Given the description of an element on the screen output the (x, y) to click on. 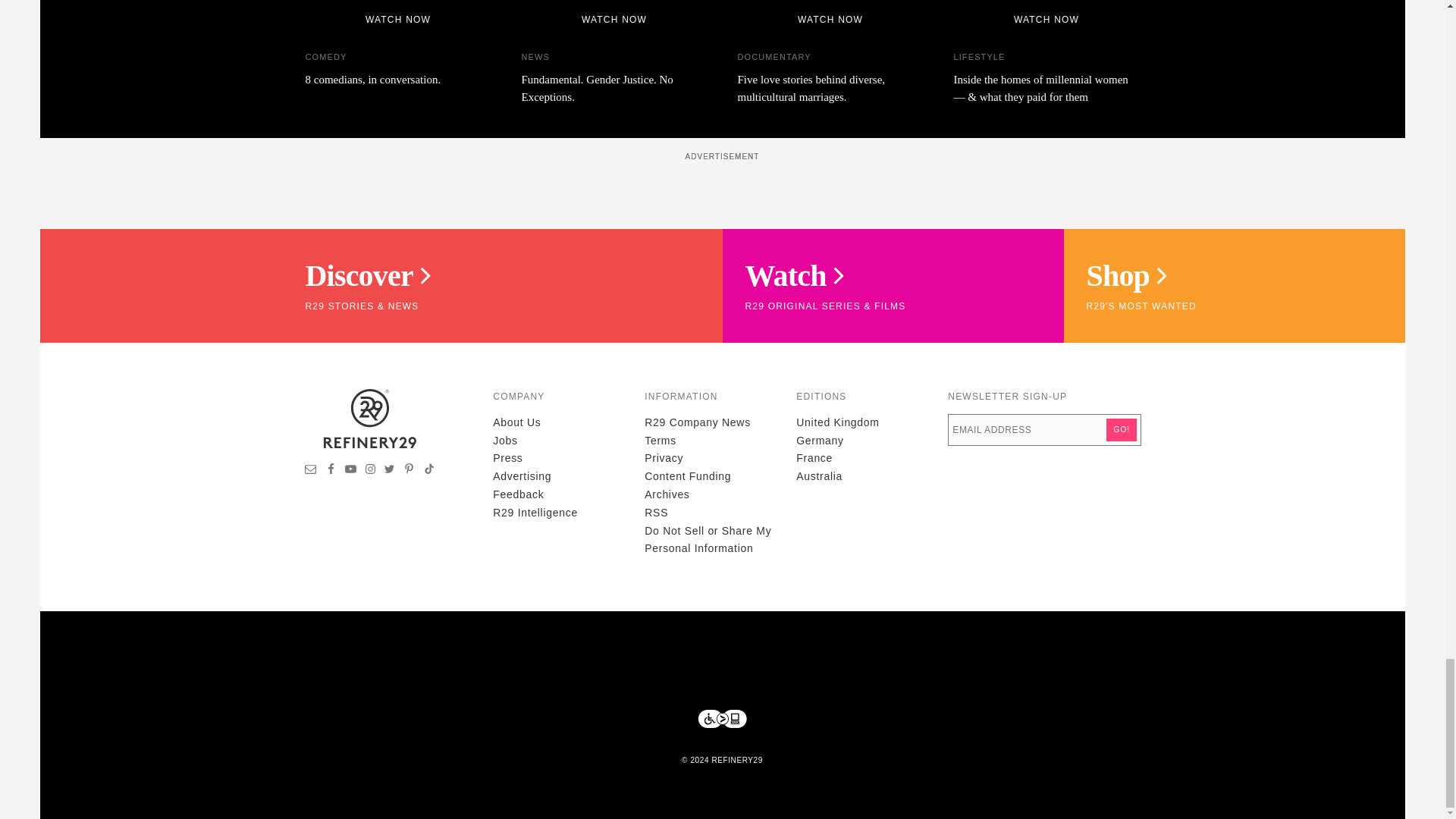
Visit Refinery29 on YouTube (350, 470)
Sign up for newsletters (310, 470)
Visit Refinery29 on TikTok (428, 470)
